Given the description of an element on the screen output the (x, y) to click on. 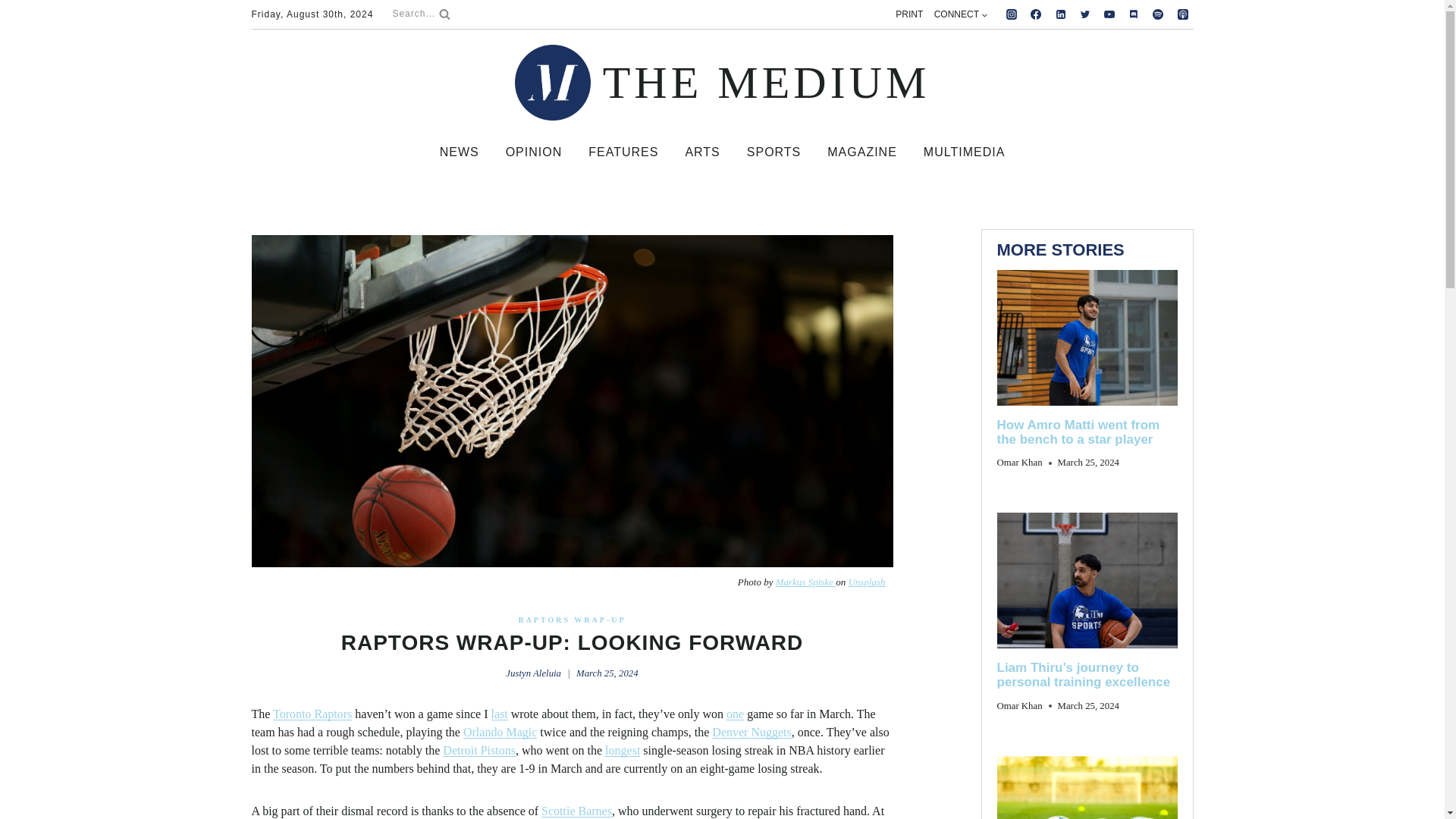
FEATURES (623, 151)
one (735, 713)
Denver Nuggets (750, 731)
OPINION (533, 151)
Unsplash (866, 582)
RAPTORS WRAP-UP (572, 619)
Markus Spiske (805, 582)
MAGAZINE (862, 151)
SPORTS (773, 151)
CONNECT (960, 14)
